Given the description of an element on the screen output the (x, y) to click on. 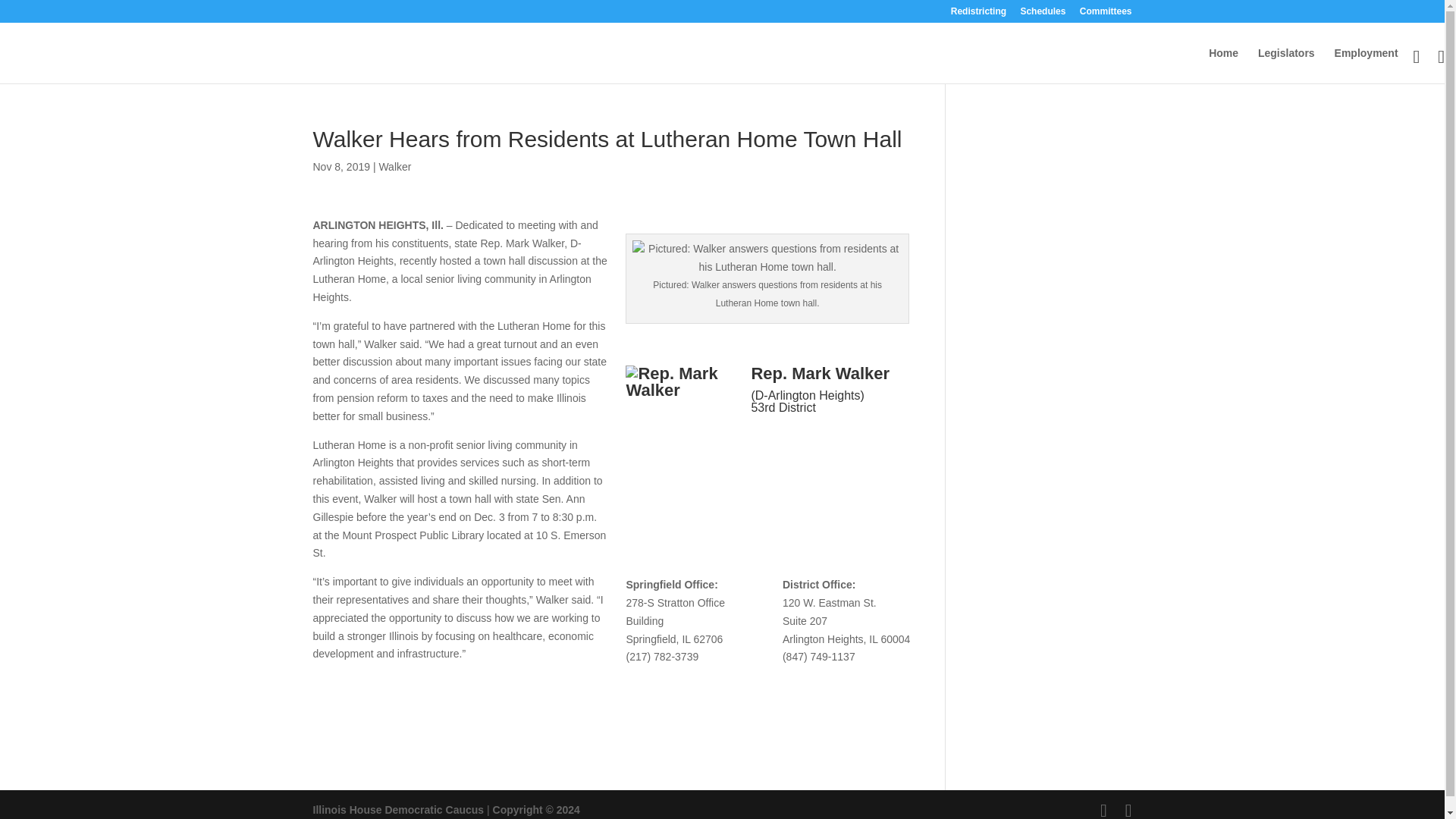
Walker (394, 166)
Employment (1366, 65)
Follow on Facebook (762, 442)
Legislators (1285, 65)
Schedules (1042, 14)
Illinois House Democratic Caucus (398, 809)
IL House Democrats (398, 809)
Redistricting (978, 14)
Committees (1106, 14)
